Given the description of an element on the screen output the (x, y) to click on. 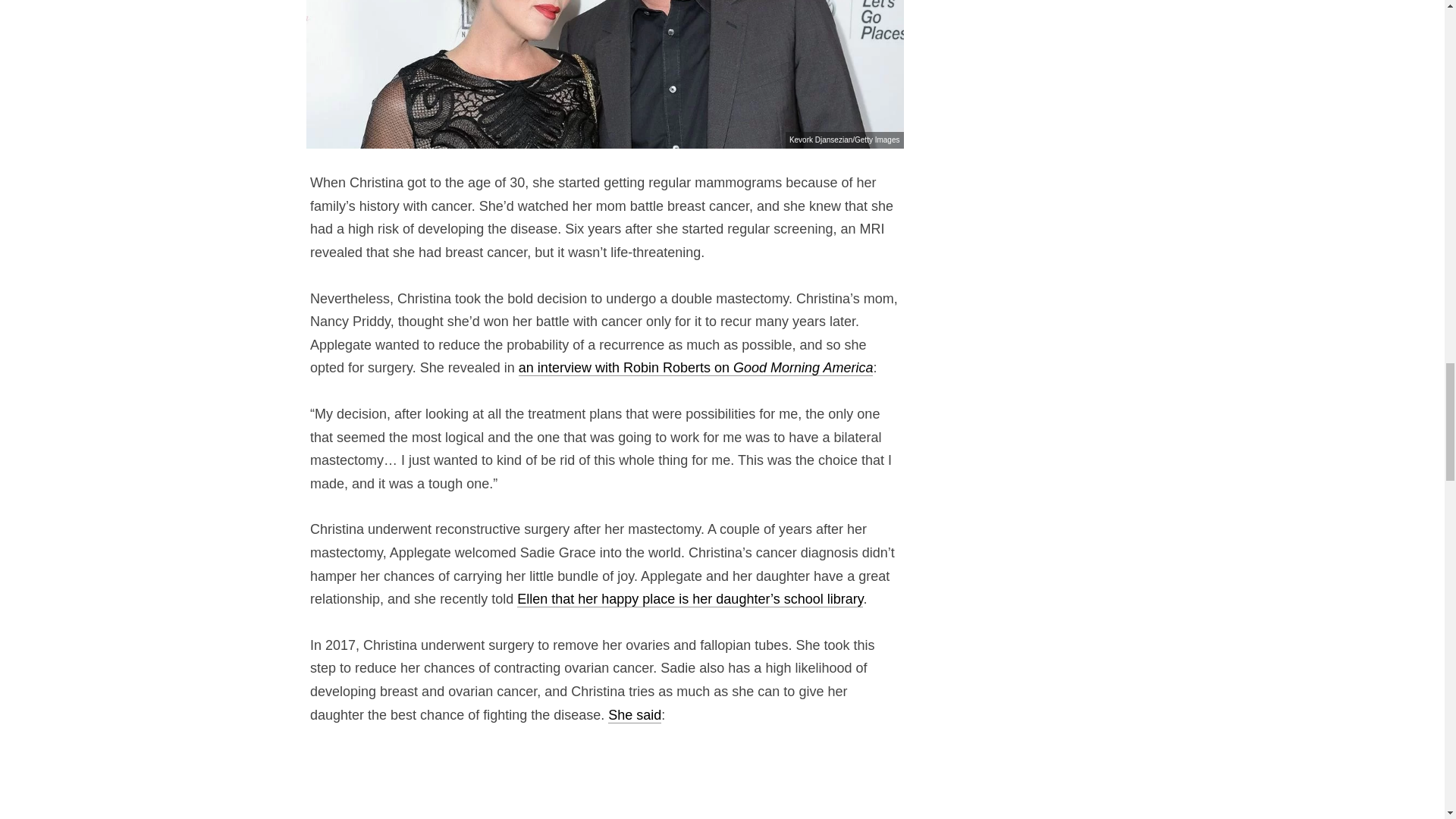
She said (634, 715)
an interview with Robin Roberts on Good Morning America (695, 367)
